Given the description of an element on the screen output the (x, y) to click on. 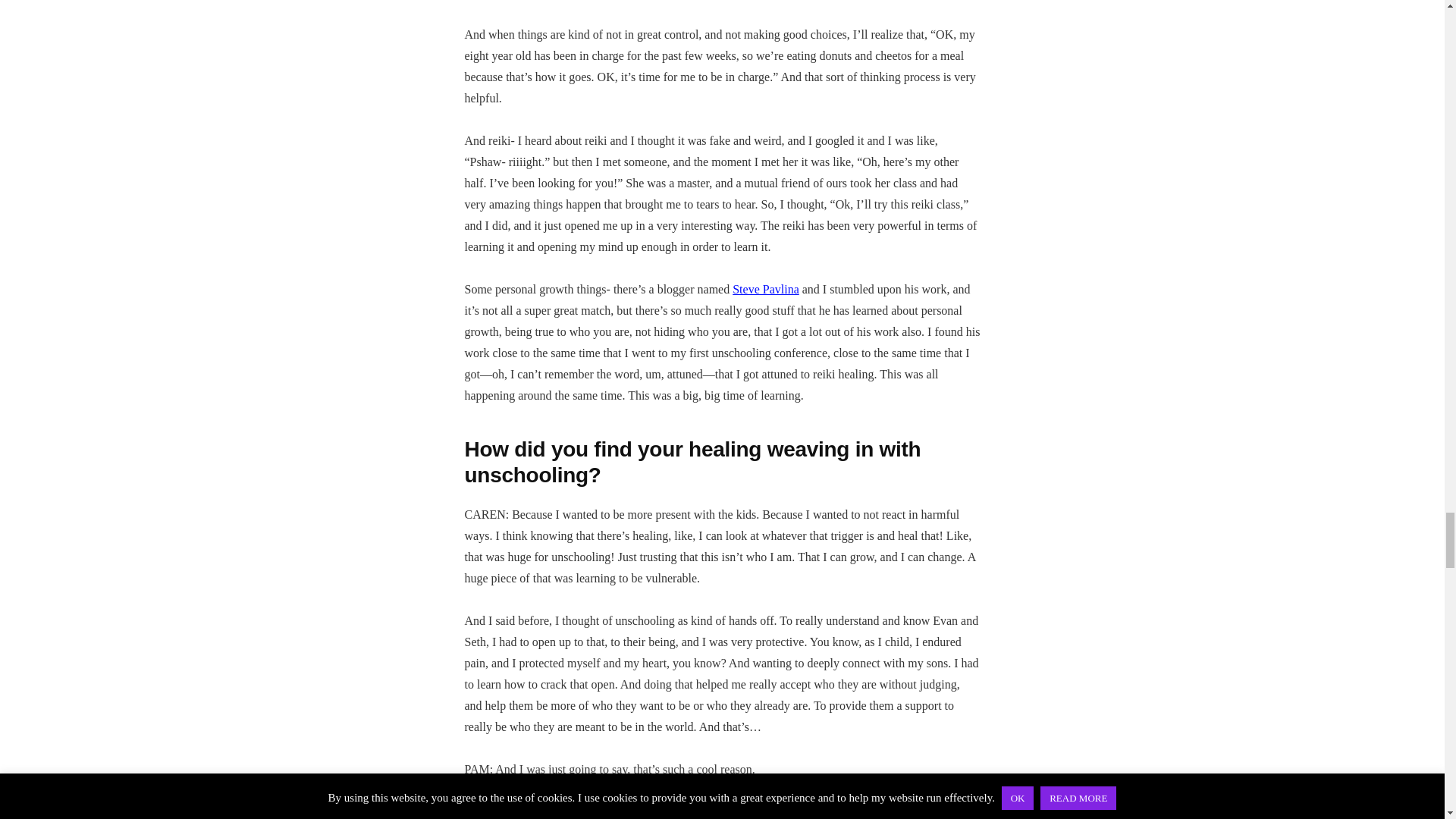
Steve Pavlina (765, 288)
